Given the description of an element on the screen output the (x, y) to click on. 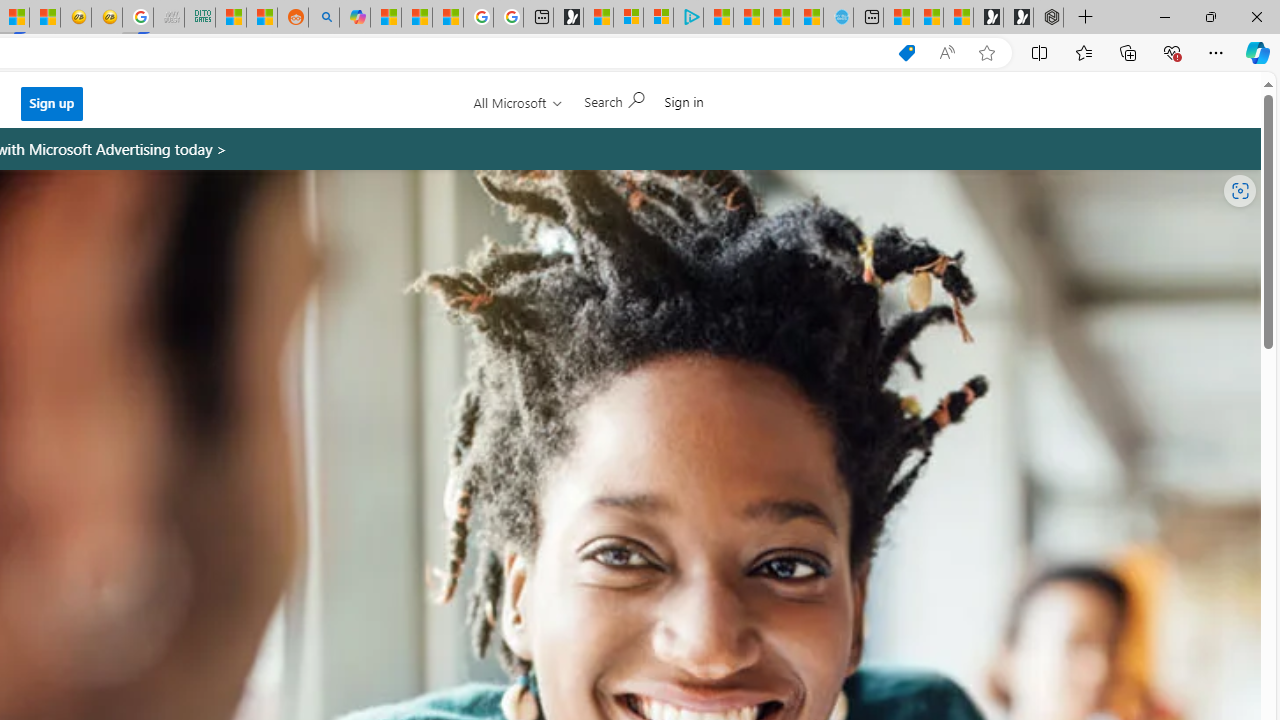
DITOGAMES AG Imprint (200, 17)
Home | Sky Blue Bikes - Sky Blue Bikes (838, 17)
Get the Copilot app  (711, 109)
